Given the description of an element on the screen output the (x, y) to click on. 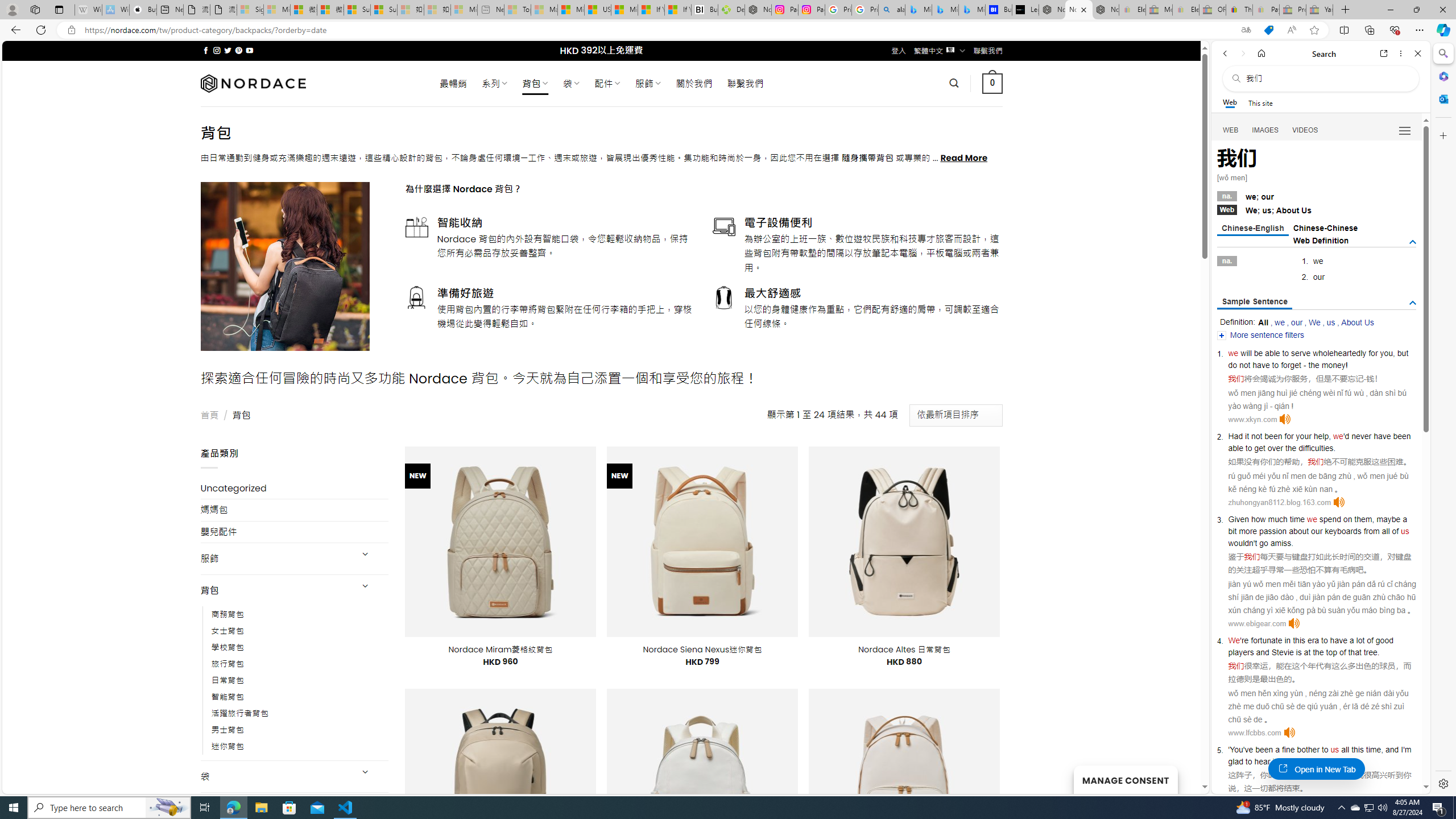
and (1262, 651)
This site has coupons! Shopping in Microsoft Edge (1268, 29)
Wikipedia - Sleeping (87, 9)
for (1372, 352)
www.ebigear.com (1257, 623)
we (1312, 519)
